Given the description of an element on the screen output the (x, y) to click on. 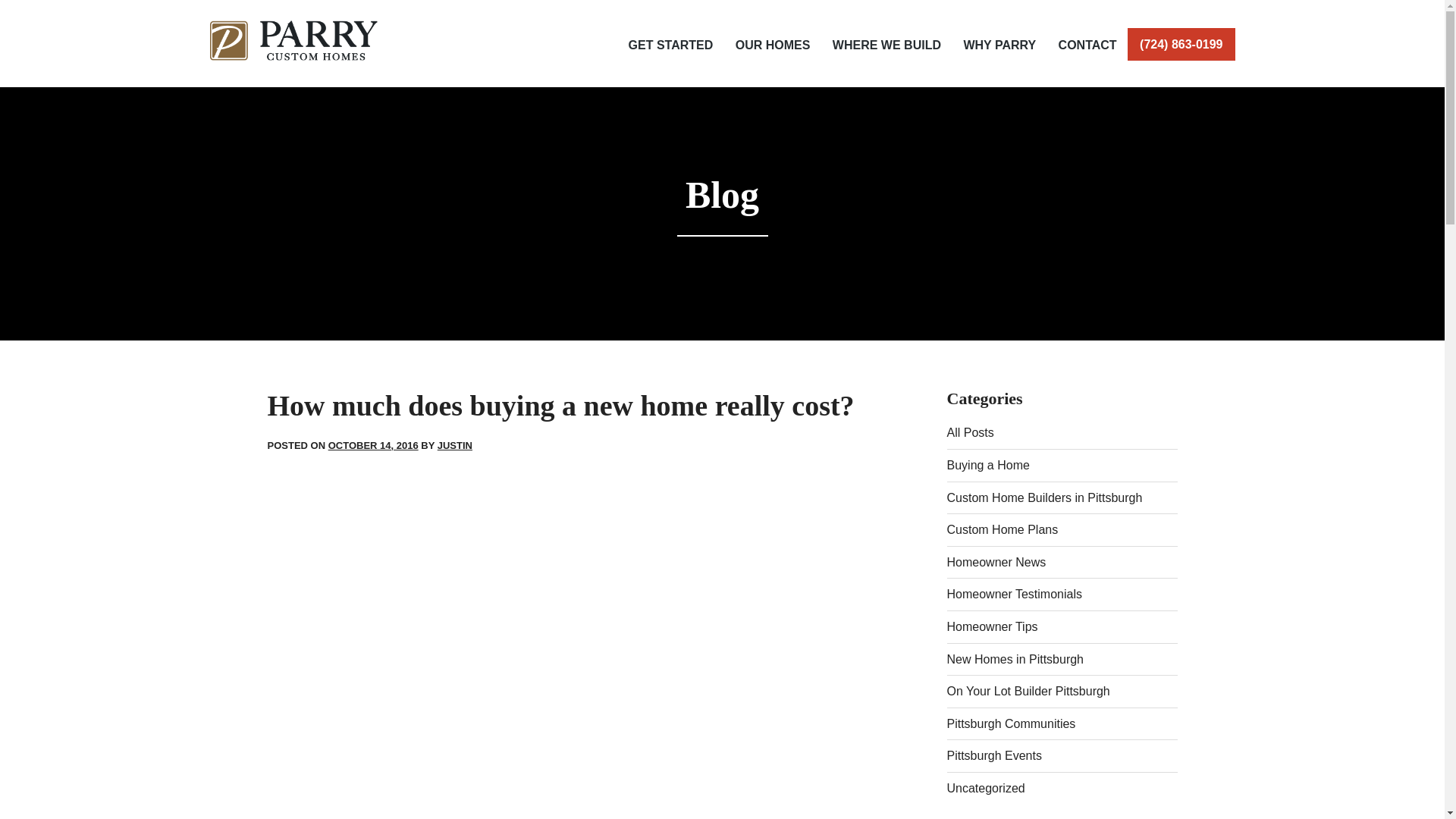
OUR HOMES (770, 44)
GET STARTED (668, 44)
Parry Custom Homes (293, 40)
